Given the description of an element on the screen output the (x, y) to click on. 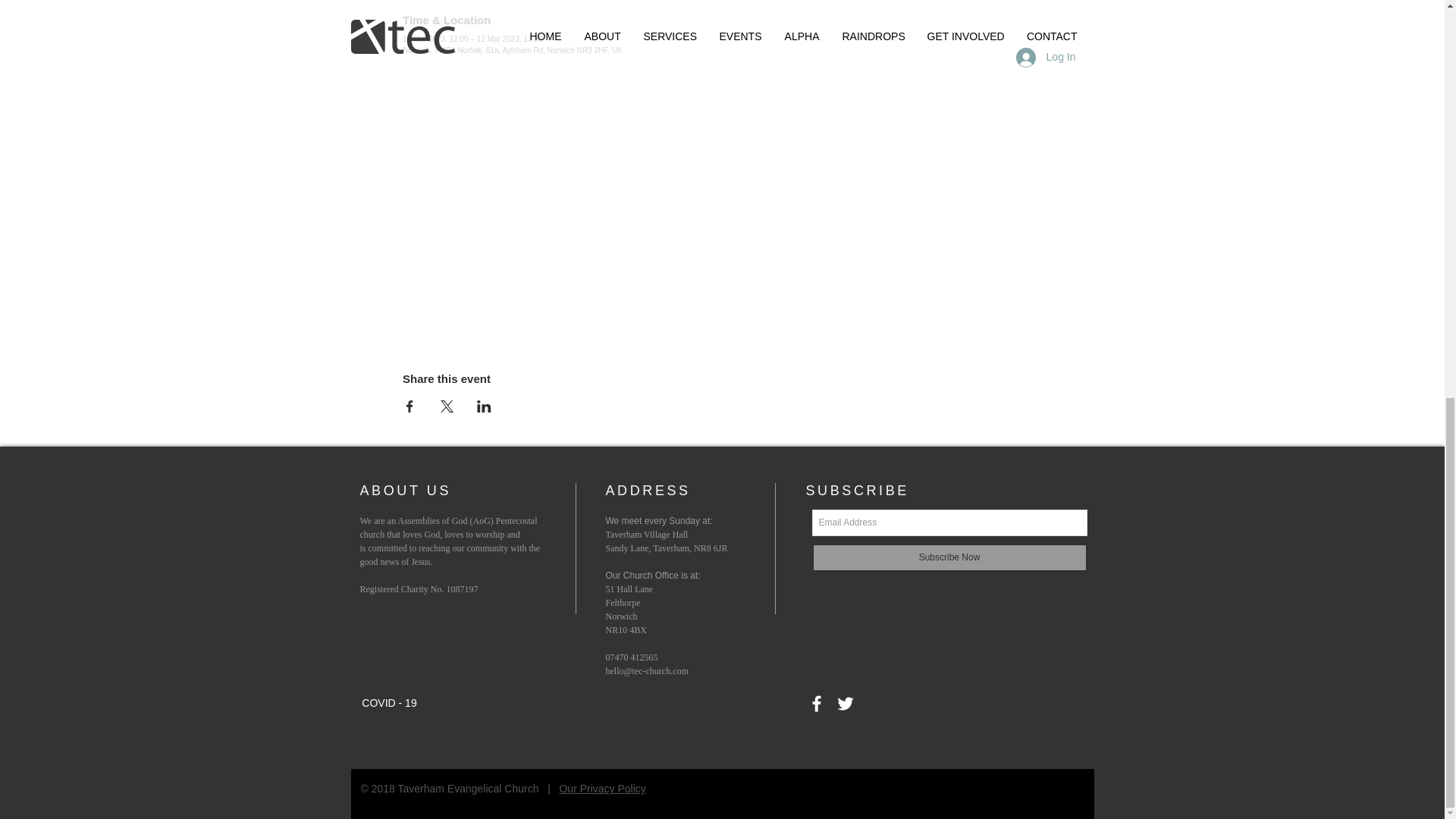
COVID - 19 (388, 703)
Subscribe Now (948, 557)
07470 412565 (631, 656)
Our Privacy Policy (602, 788)
